Given the description of an element on the screen output the (x, y) to click on. 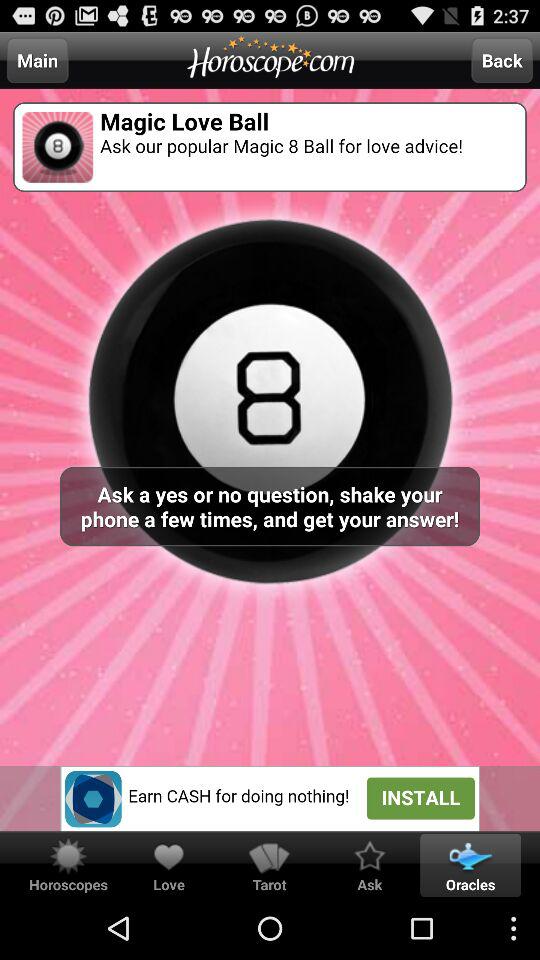
open advertisement (270, 798)
